Given the description of an element on the screen output the (x, y) to click on. 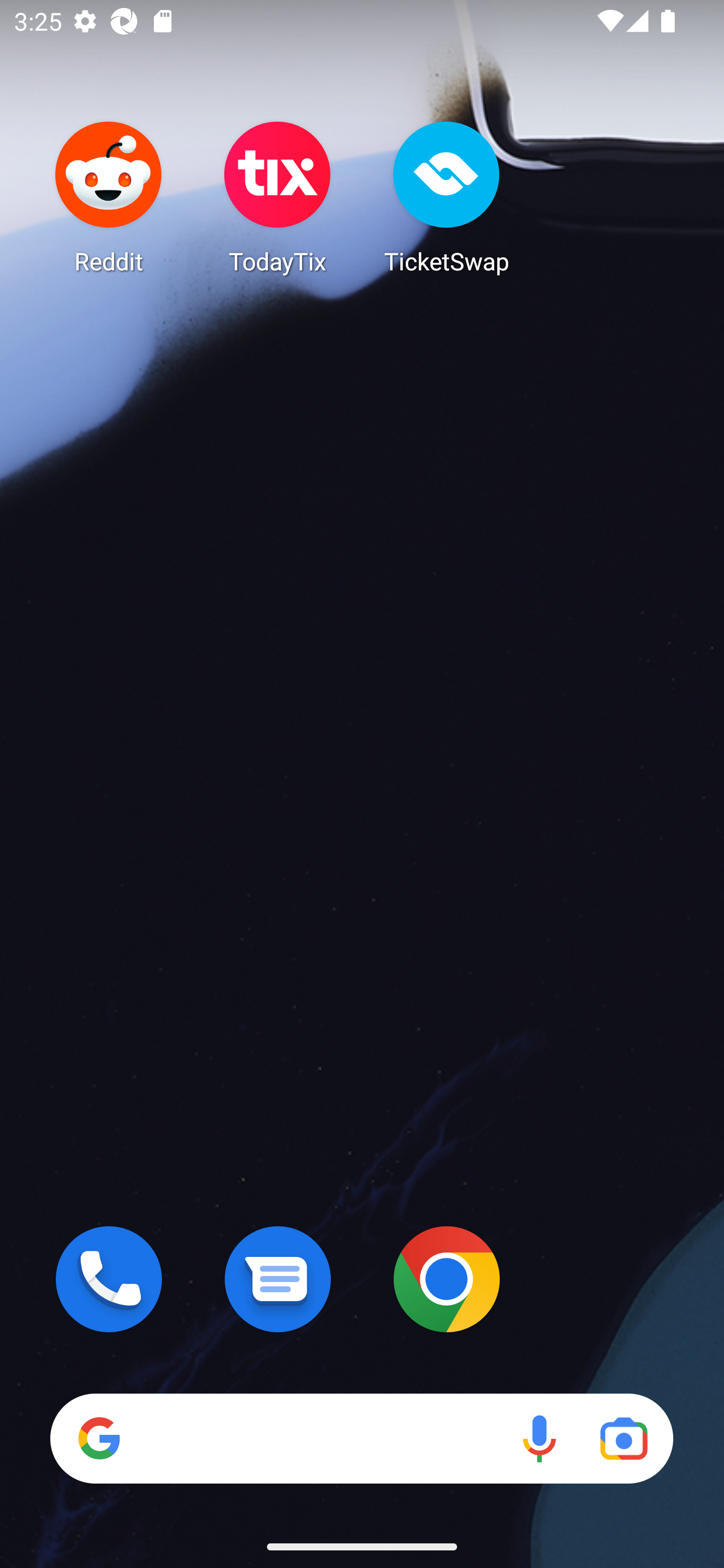
Reddit (108, 196)
TodayTix (277, 196)
TicketSwap (445, 196)
Phone (108, 1279)
Messages (277, 1279)
Chrome (446, 1279)
Voice search (539, 1438)
Google Lens (623, 1438)
